Given the description of an element on the screen output the (x, y) to click on. 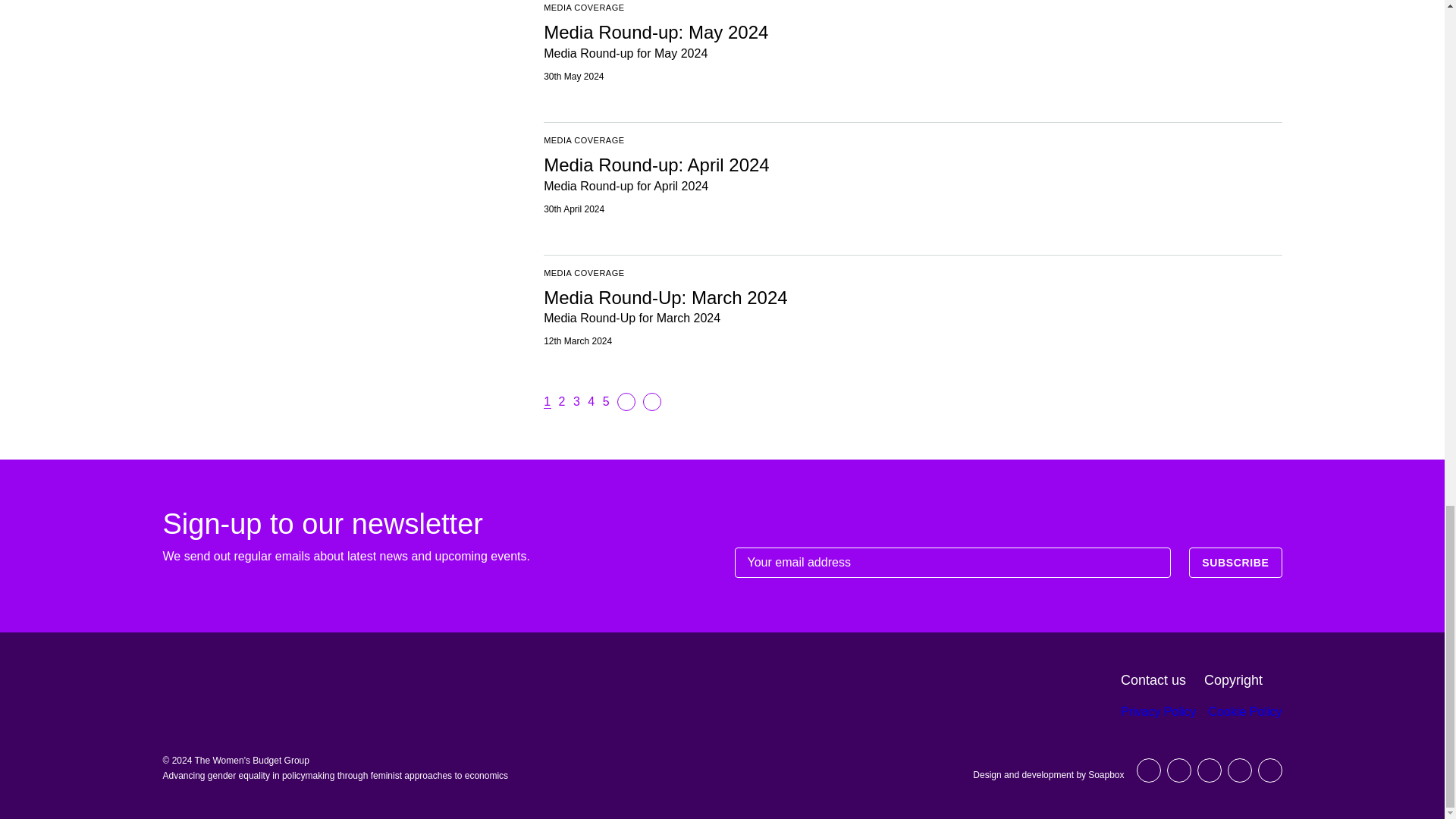
Privacy Policy  (1158, 712)
Cookie Policy  (1245, 712)
Twitter (1147, 770)
YouTube (1208, 770)
Instagram (1269, 770)
LinkedIn (1178, 770)
Facebook (1238, 770)
Go to homepage (230, 690)
